Given the description of an element on the screen output the (x, y) to click on. 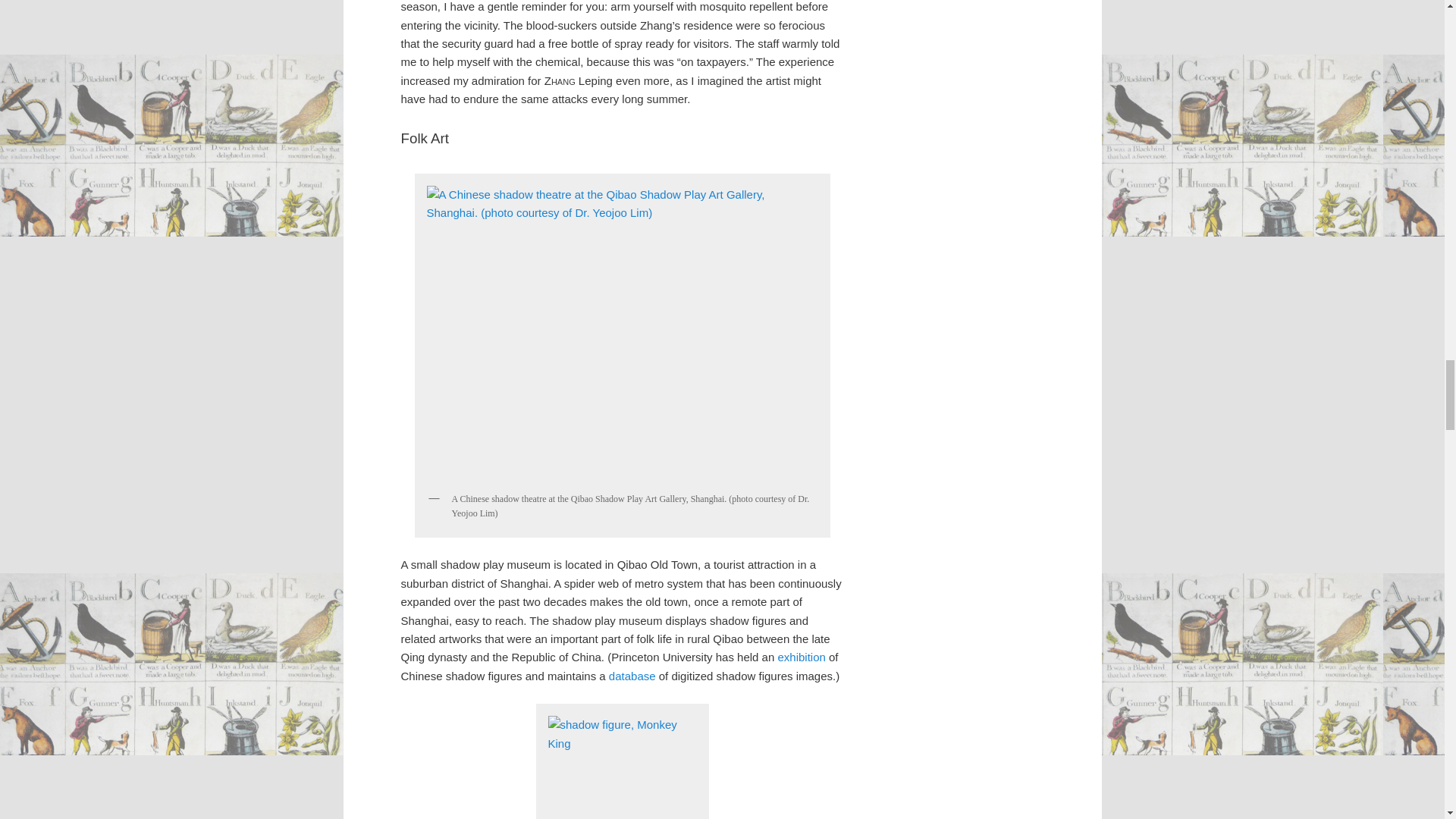
database (632, 675)
exhibition (801, 656)
